Given the description of an element on the screen output the (x, y) to click on. 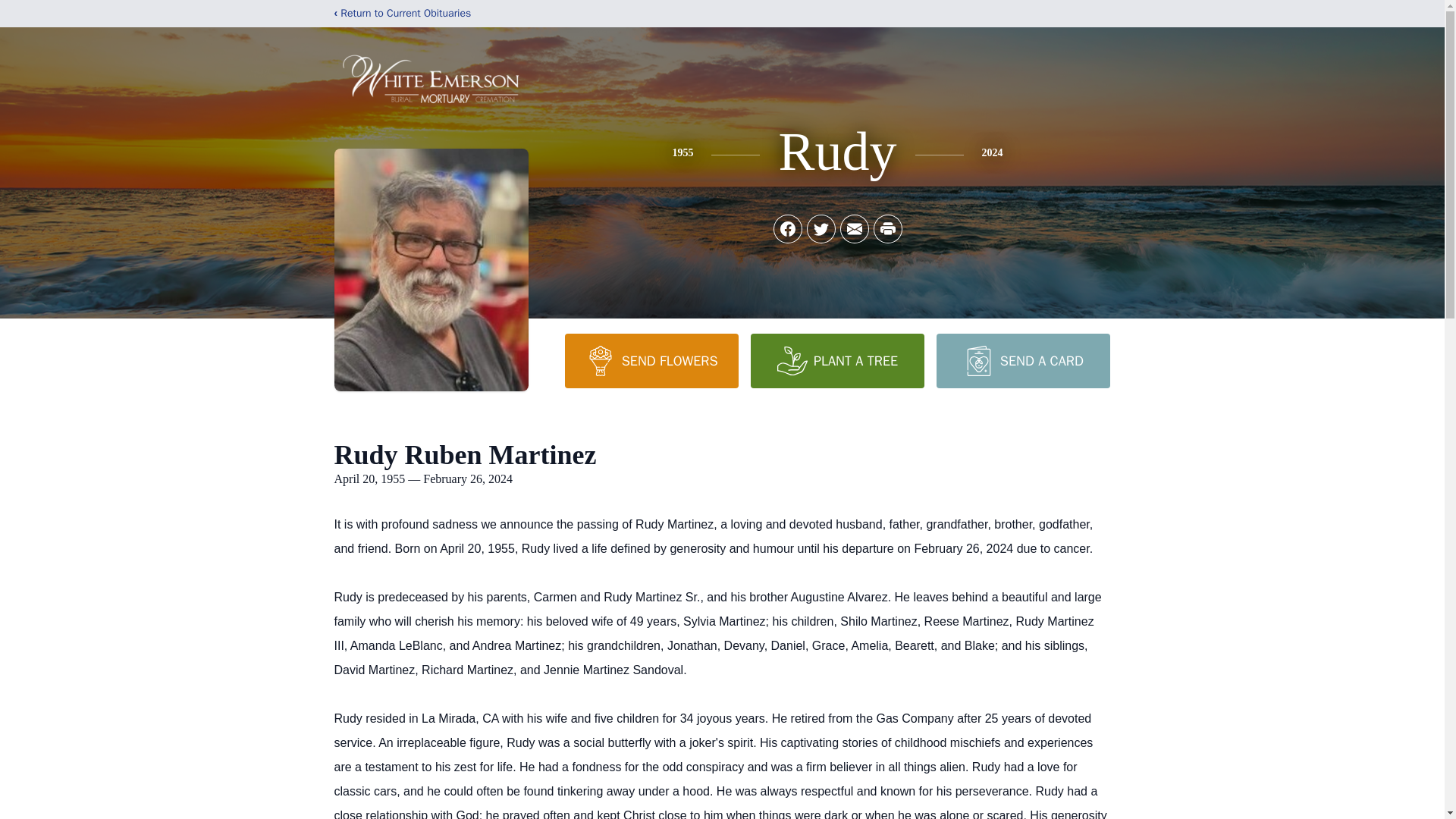
SEND FLOWERS (651, 360)
SEND A CARD (1022, 360)
PLANT A TREE (837, 360)
